Given the description of an element on the screen output the (x, y) to click on. 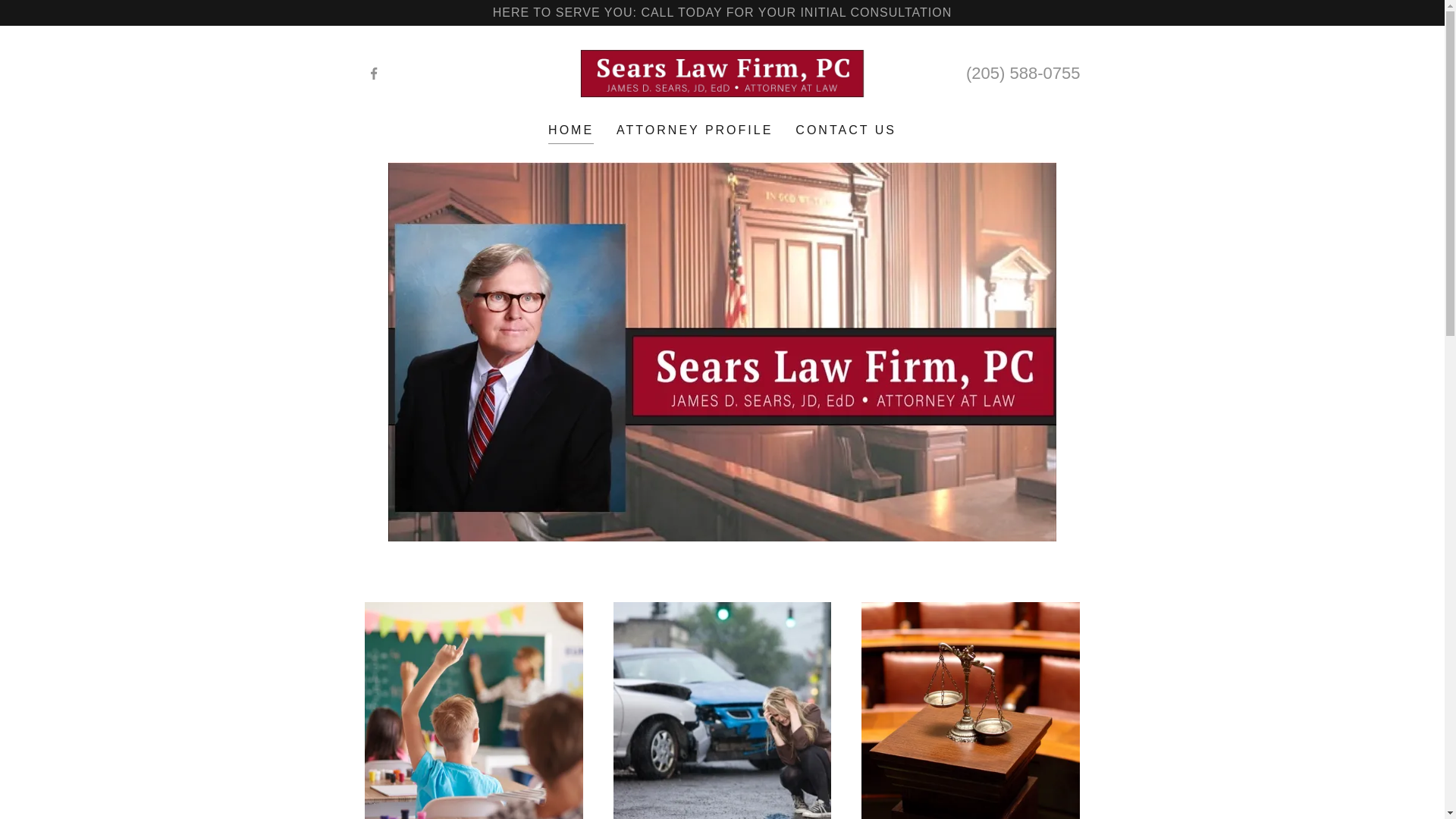
CONTACT US (845, 130)
HOME (571, 132)
ATTORNEY PROFILE (694, 130)
